Given the description of an element on the screen output the (x, y) to click on. 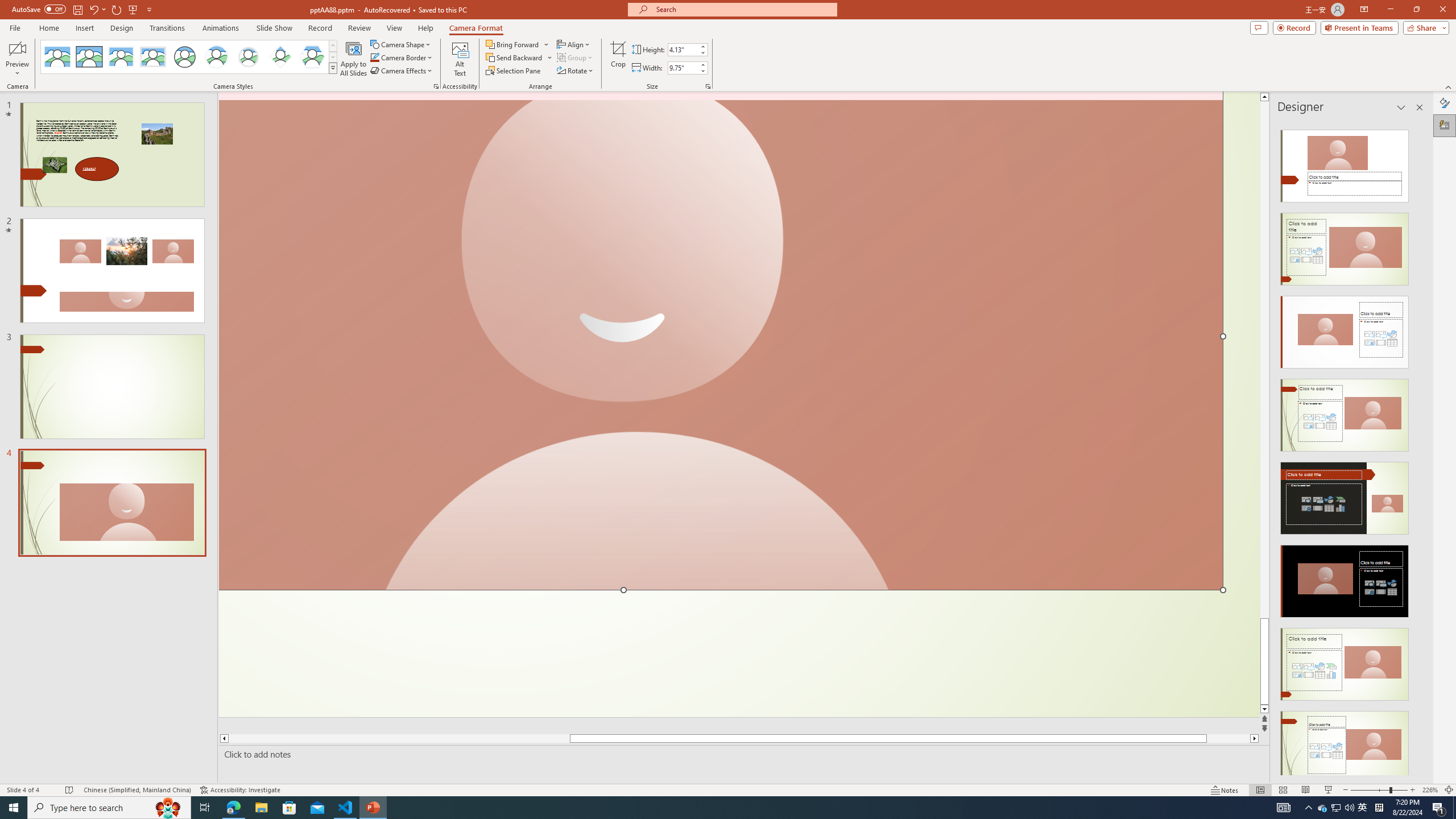
Recommended Design: Design Idea (1344, 162)
Center Shadow Diamond (280, 56)
Apply to All Slides (353, 58)
Camera Border Teal, Accent 1 (374, 56)
Simple Frame Circle (184, 56)
